Given the description of an element on the screen output the (x, y) to click on. 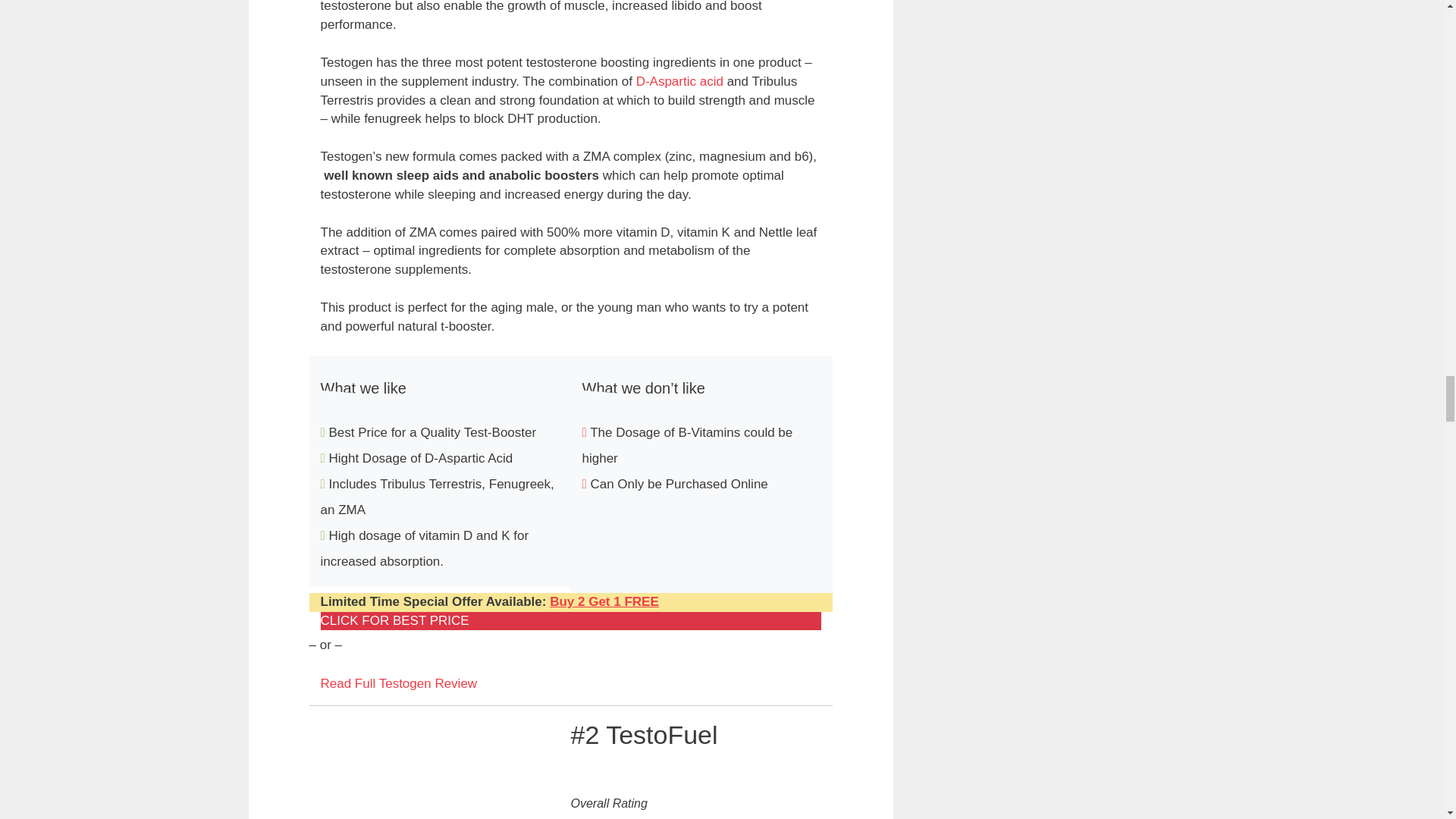
Buy Testogen (604, 601)
